Given the description of an element on the screen output the (x, y) to click on. 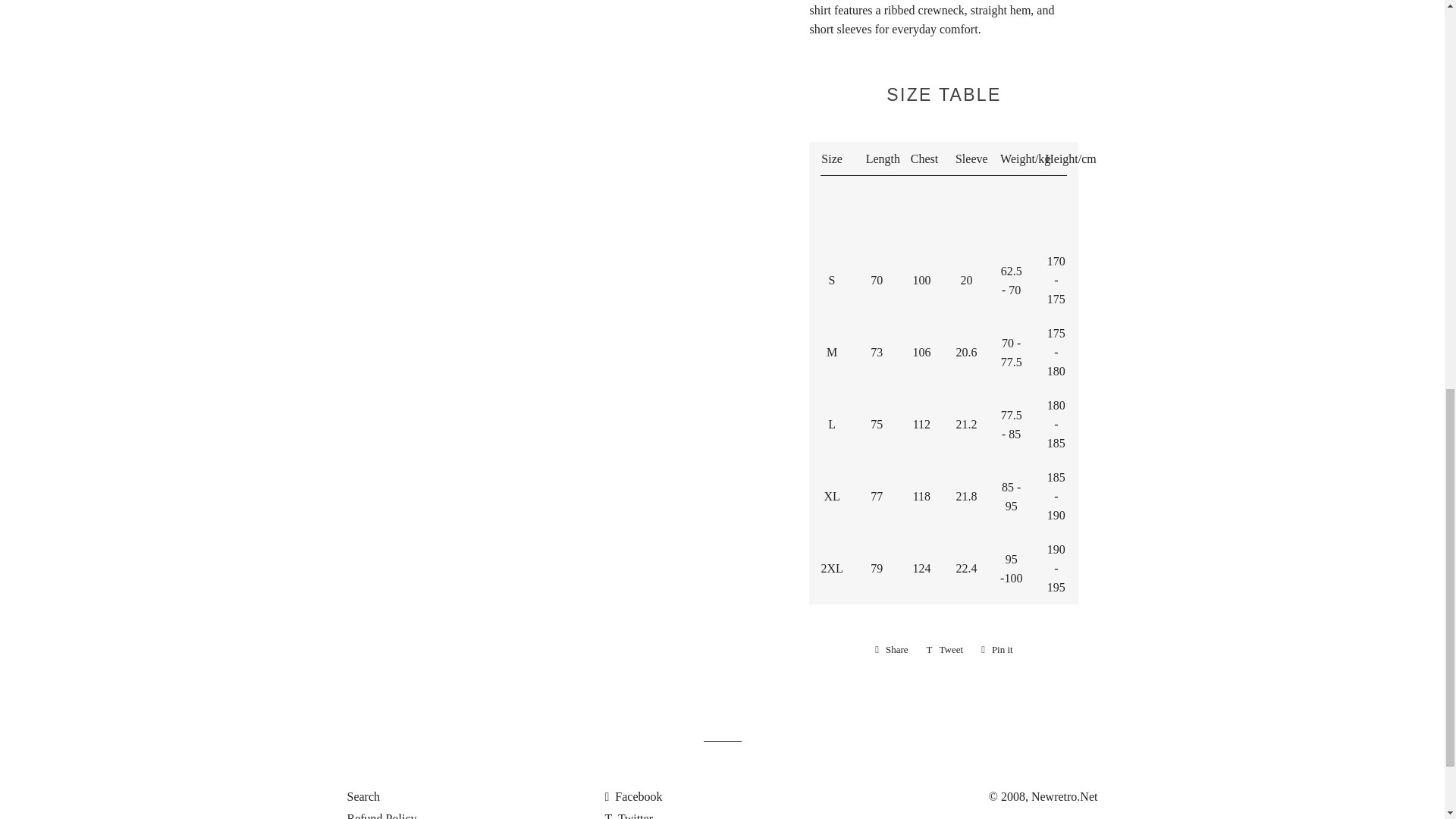
Pin on Pinterest (997, 649)
Share on Facebook (891, 649)
Newretro.Net on Twitter (628, 815)
Tweet on Twitter (944, 649)
Newretro.Net on Facebook (633, 796)
